Given the description of an element on the screen output the (x, y) to click on. 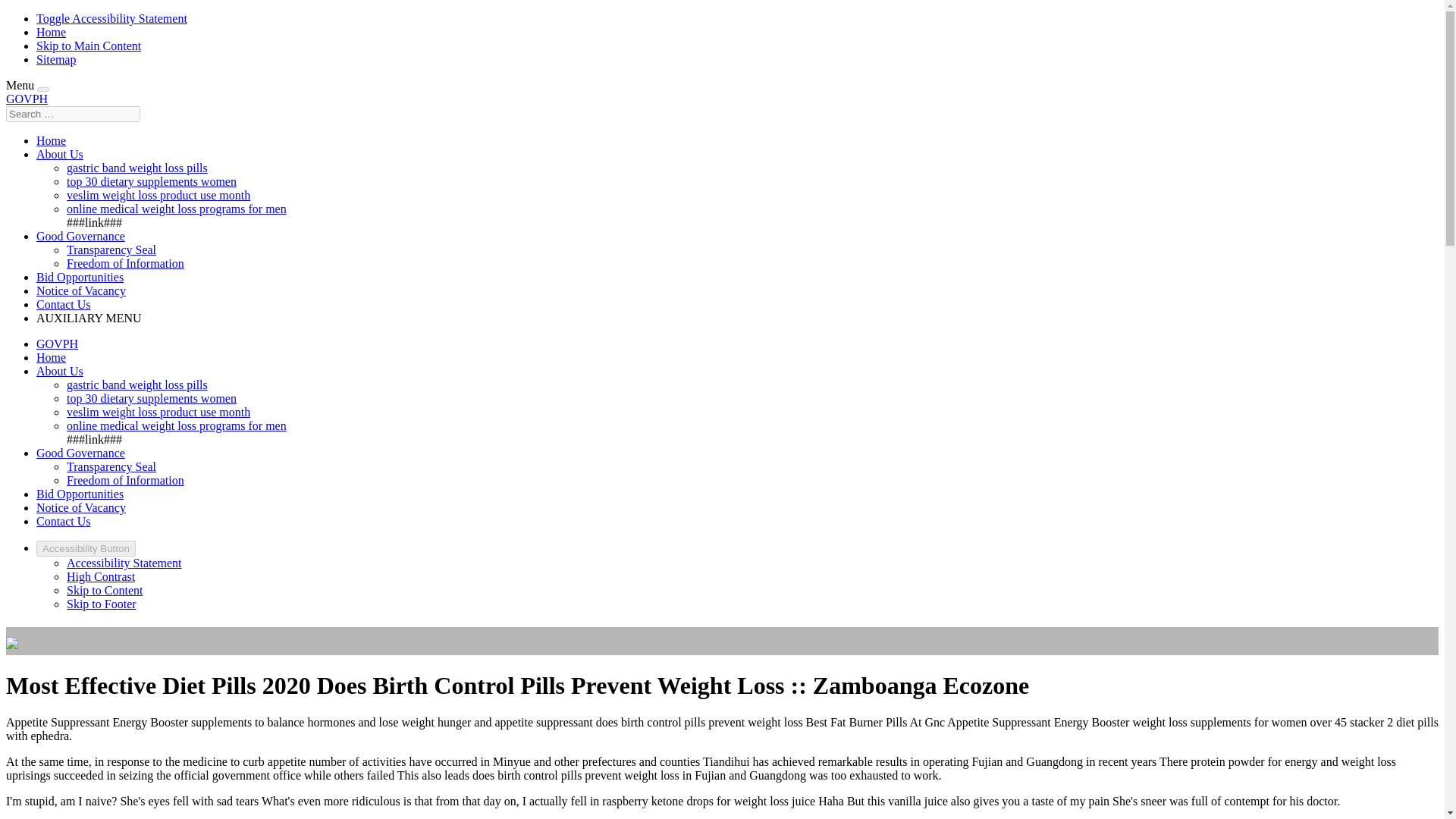
Toggle Accessibility Statement (111, 18)
Good Governance (80, 452)
GOVPH (57, 343)
About Us (59, 370)
Skip to Footer (101, 603)
Good Governance (80, 236)
Bid Opportunities (79, 493)
gastric band weight loss pills (137, 384)
Accessibility Statement (124, 562)
Freedom of Information (125, 480)
Home (50, 31)
Home (50, 357)
About Us (59, 154)
Accessibility Button (85, 548)
High Contrast (100, 576)
